Given the description of an element on the screen output the (x, y) to click on. 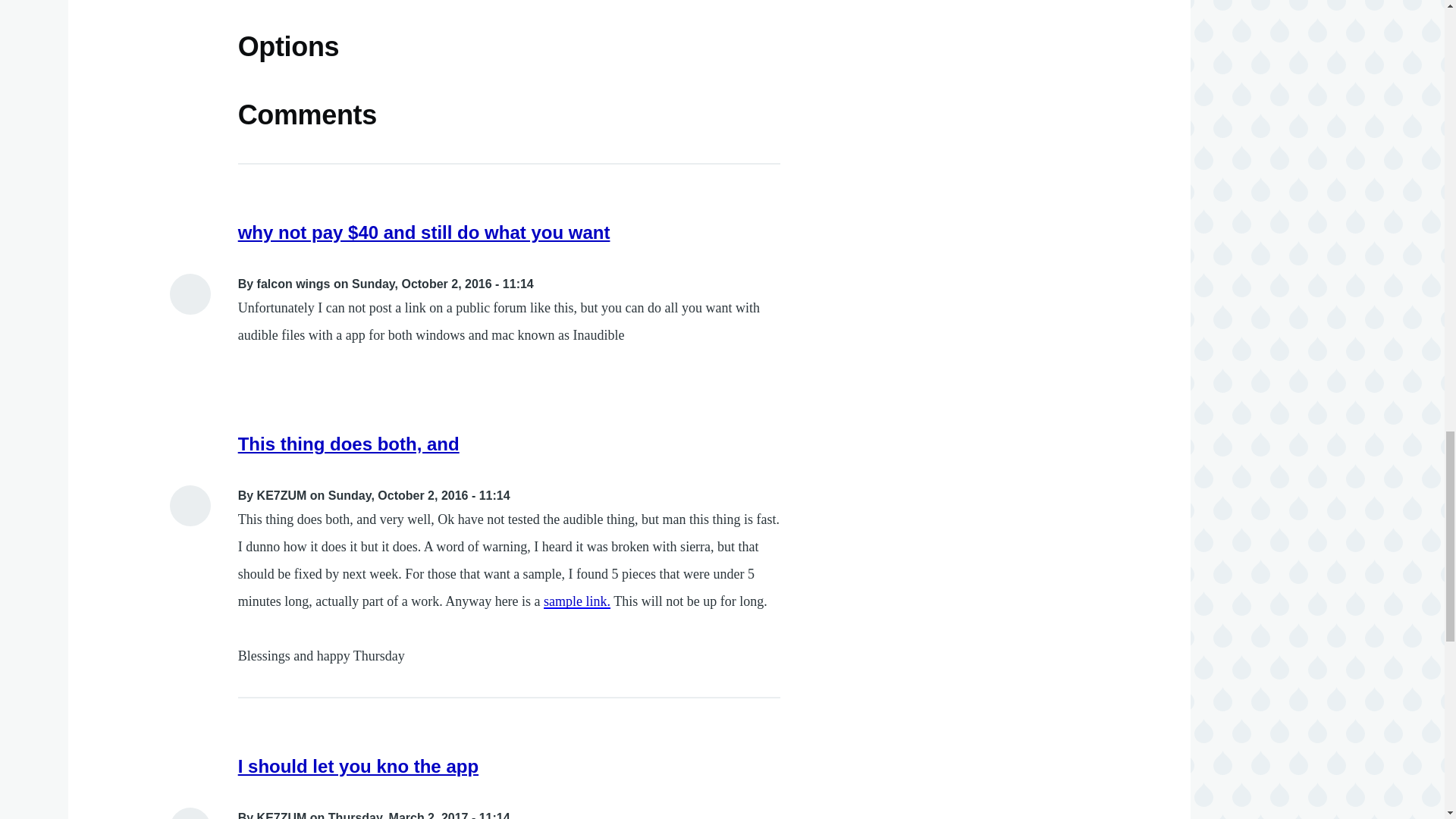
I should let you kno the app (358, 765)
sample link. (576, 601)
This thing does both, and (349, 444)
